Given the description of an element on the screen output the (x, y) to click on. 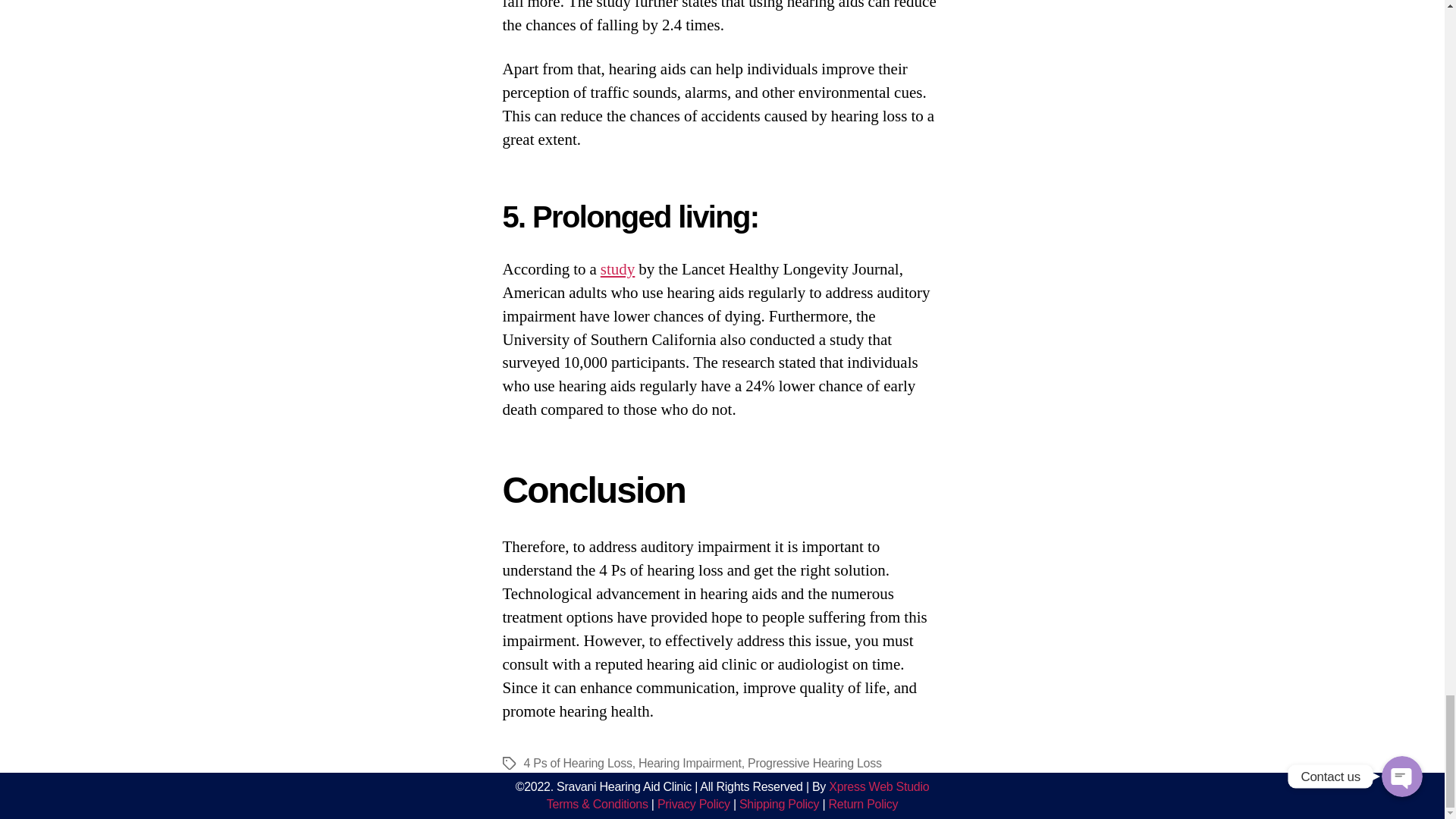
Shipping Policy (778, 803)
study (616, 269)
Hearing Impairment (690, 762)
Return Policy (863, 803)
Progressive Hearing Loss (815, 762)
Xpress Web Studio (878, 786)
4 Ps of Hearing Loss (576, 762)
Privacy Policy (694, 803)
